Given the description of an element on the screen output the (x, y) to click on. 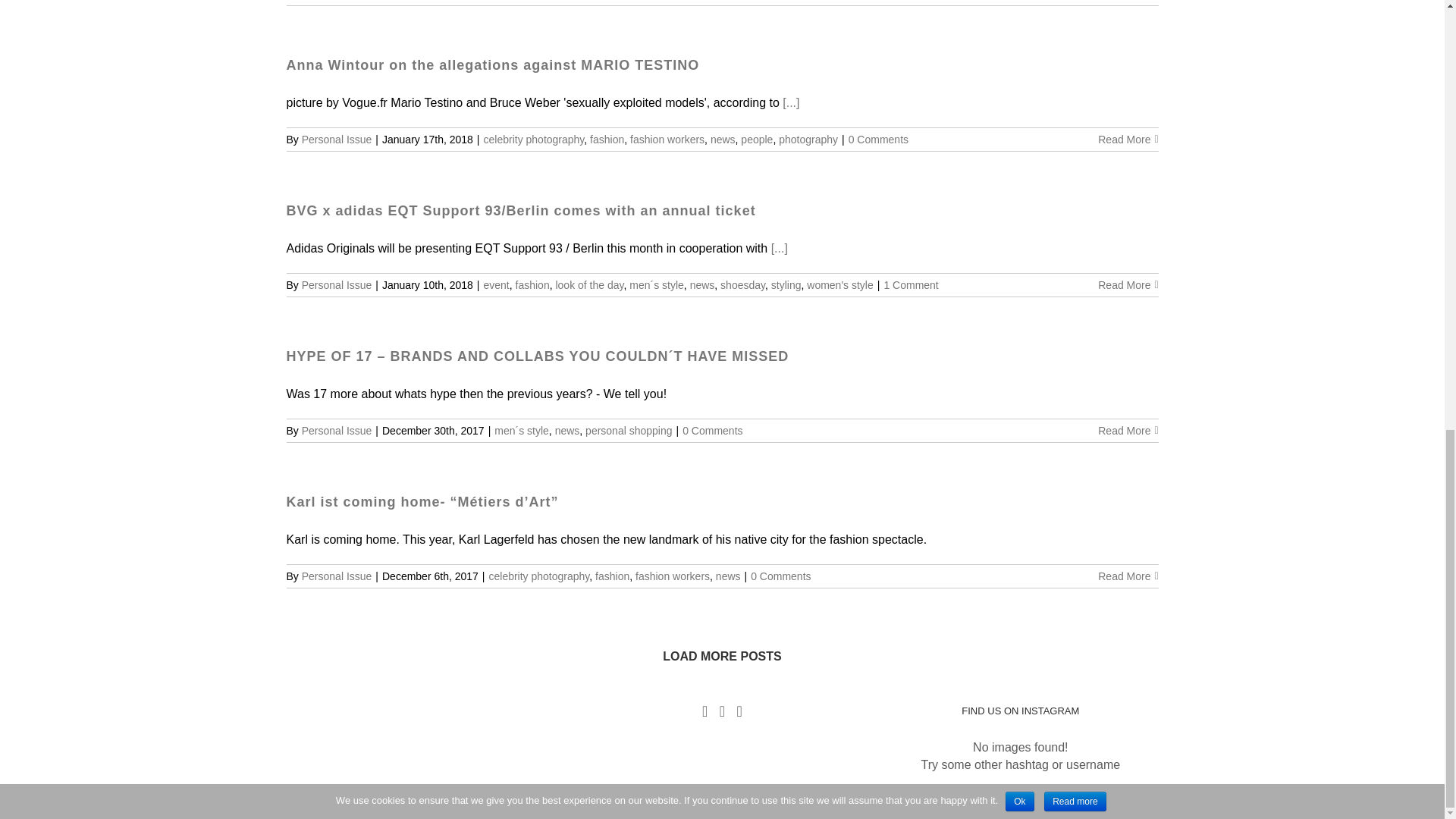
Posts by Personal Issue (336, 430)
Posts by Personal Issue (336, 139)
Posts by Personal Issue (336, 285)
Posts by Personal Issue (336, 576)
